Given the description of an element on the screen output the (x, y) to click on. 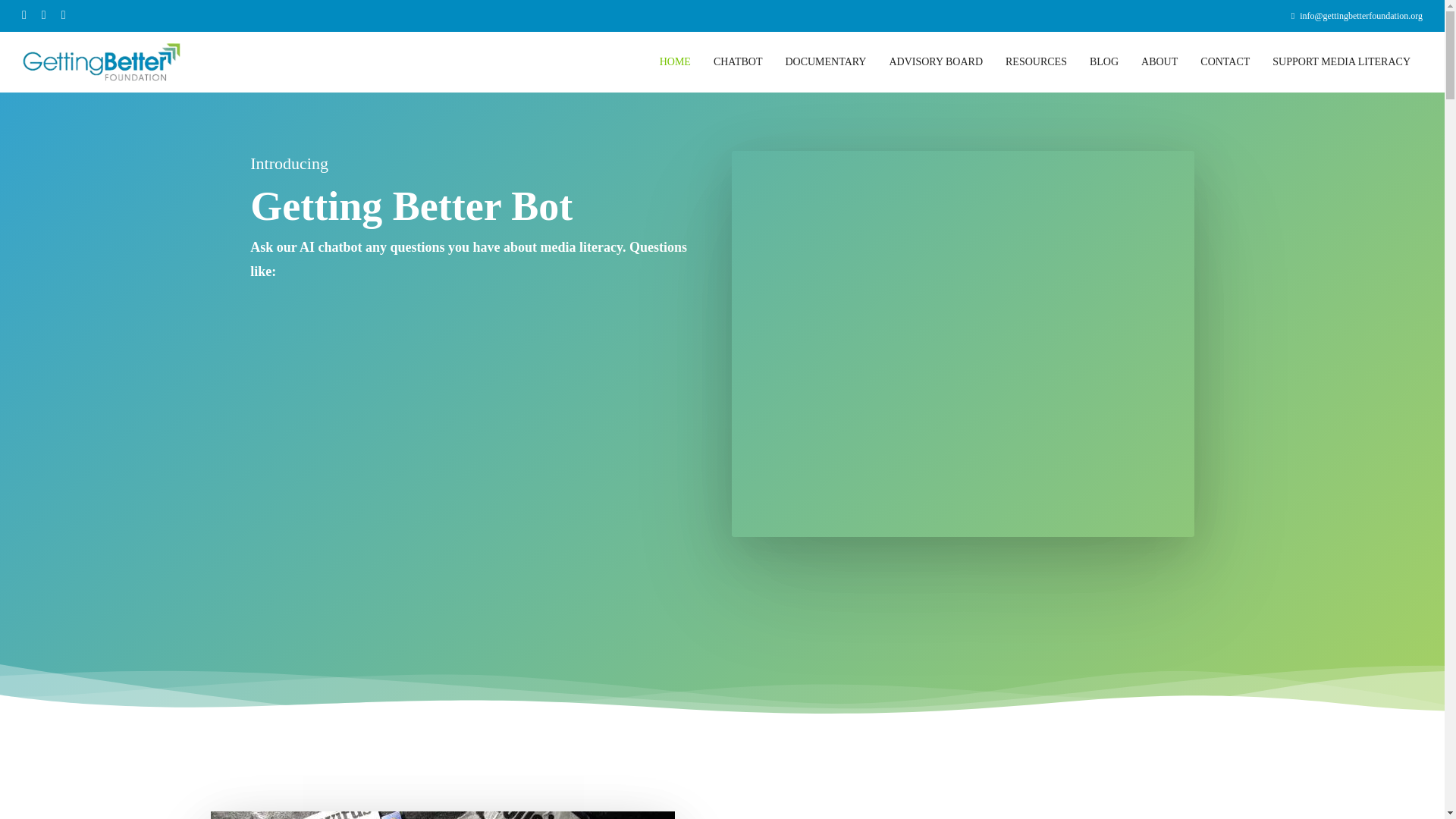
ADVISORY BOARD (935, 61)
RESOURCES (1036, 61)
HOME (674, 61)
ABOUT (1159, 61)
CHATBOT (737, 61)
CONTACT (1224, 61)
BLOG (1103, 61)
SUPPORT MEDIA LITERACY (1341, 61)
DOCUMENTARY (825, 61)
